Given the description of an element on the screen output the (x, y) to click on. 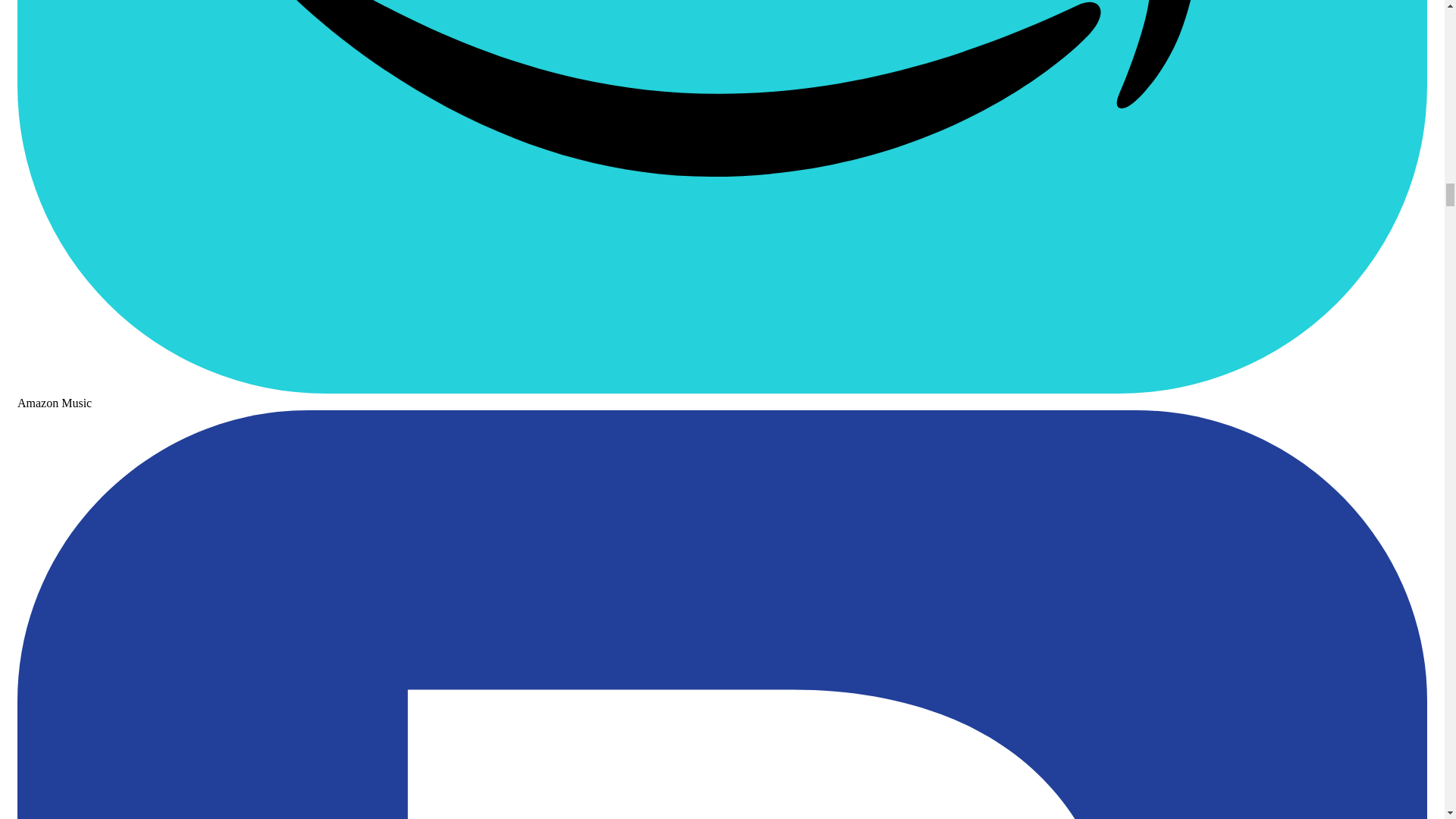
Amazon Music (721, 396)
